Given the description of an element on the screen output the (x, y) to click on. 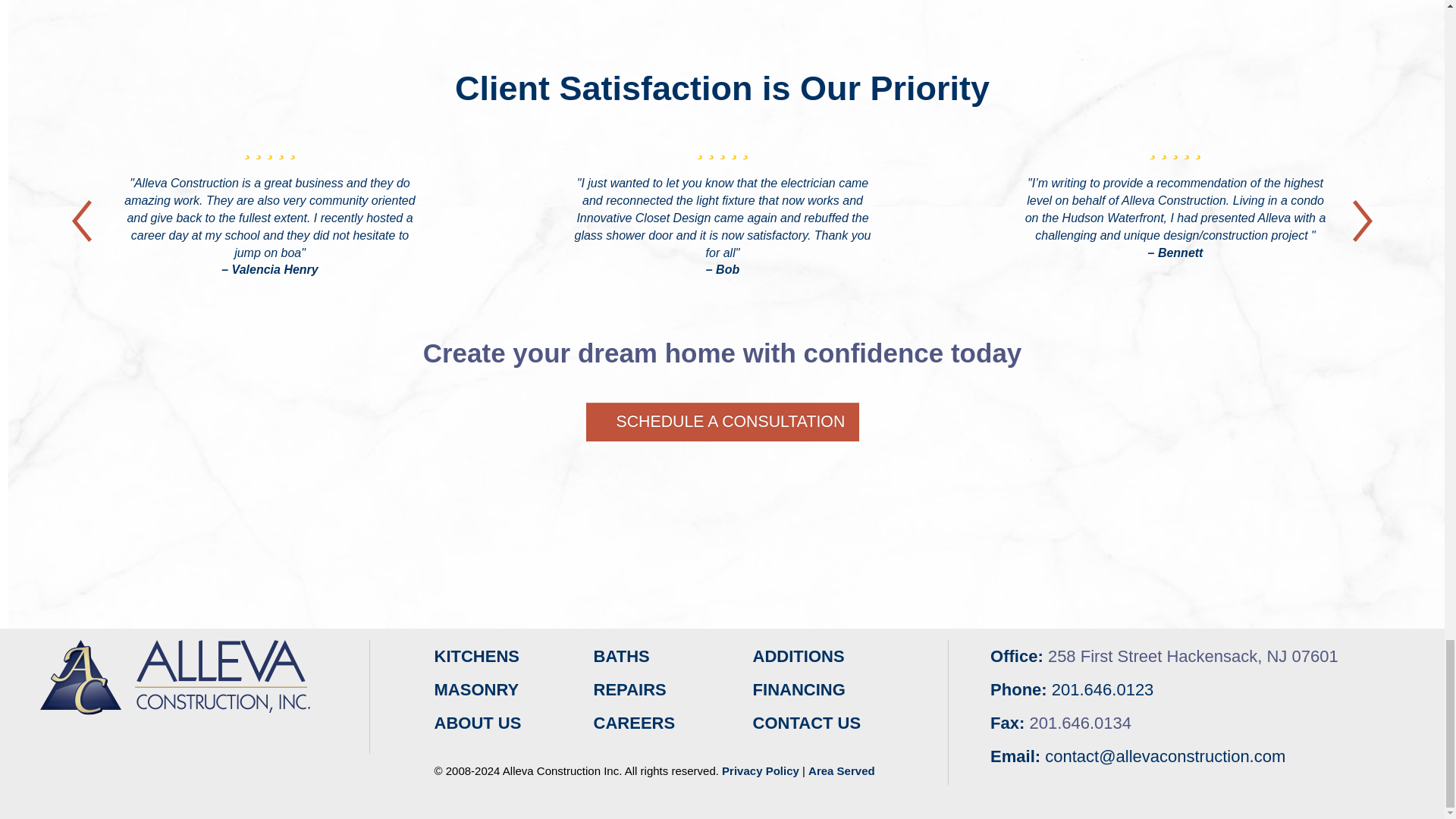
Call Alleva (1102, 689)
